Given the description of an element on the screen output the (x, y) to click on. 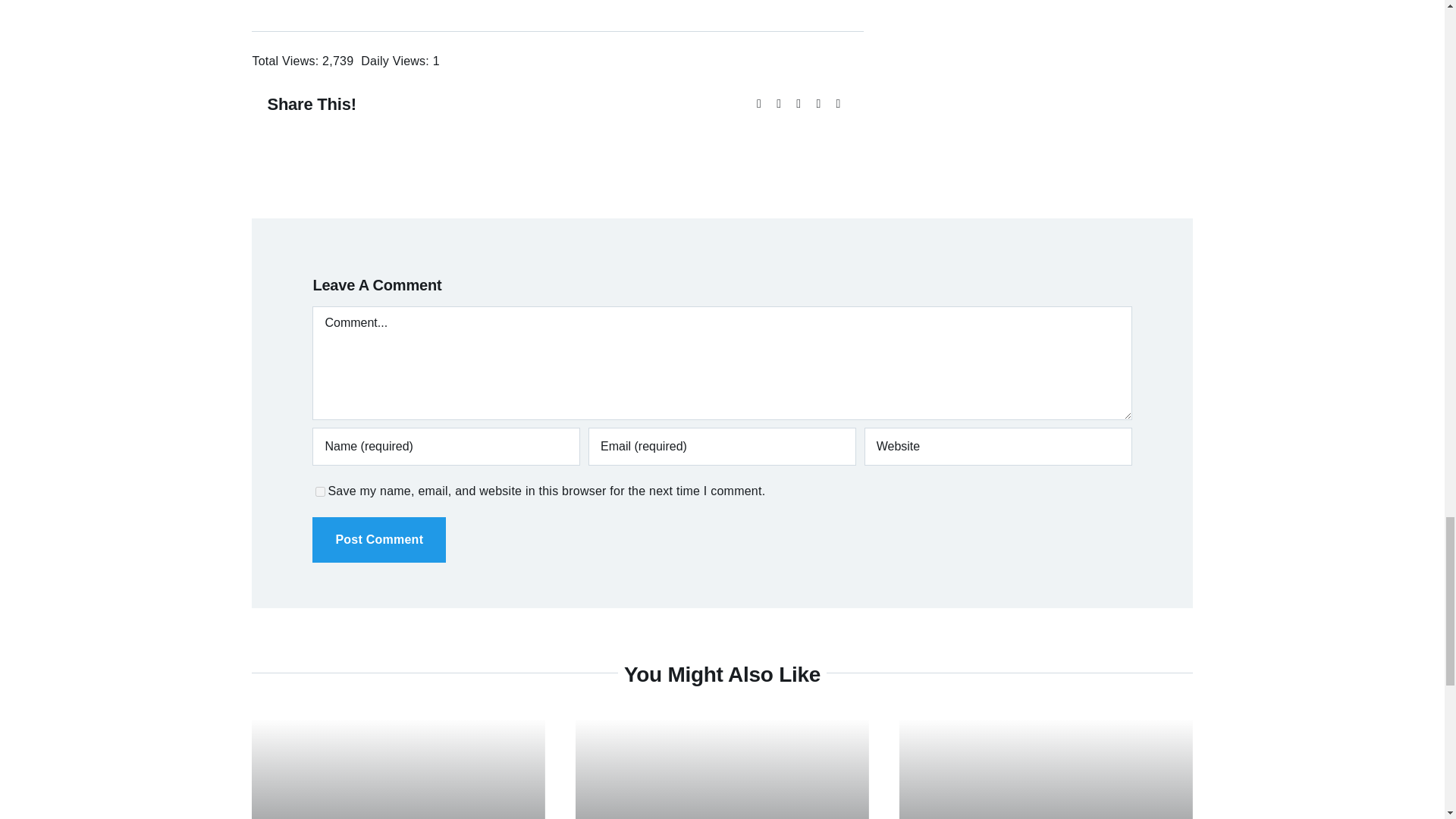
X (778, 104)
Post Comment (379, 538)
Reddit (798, 104)
yes (319, 491)
Facebook (758, 104)
